Given the description of an element on the screen output the (x, y) to click on. 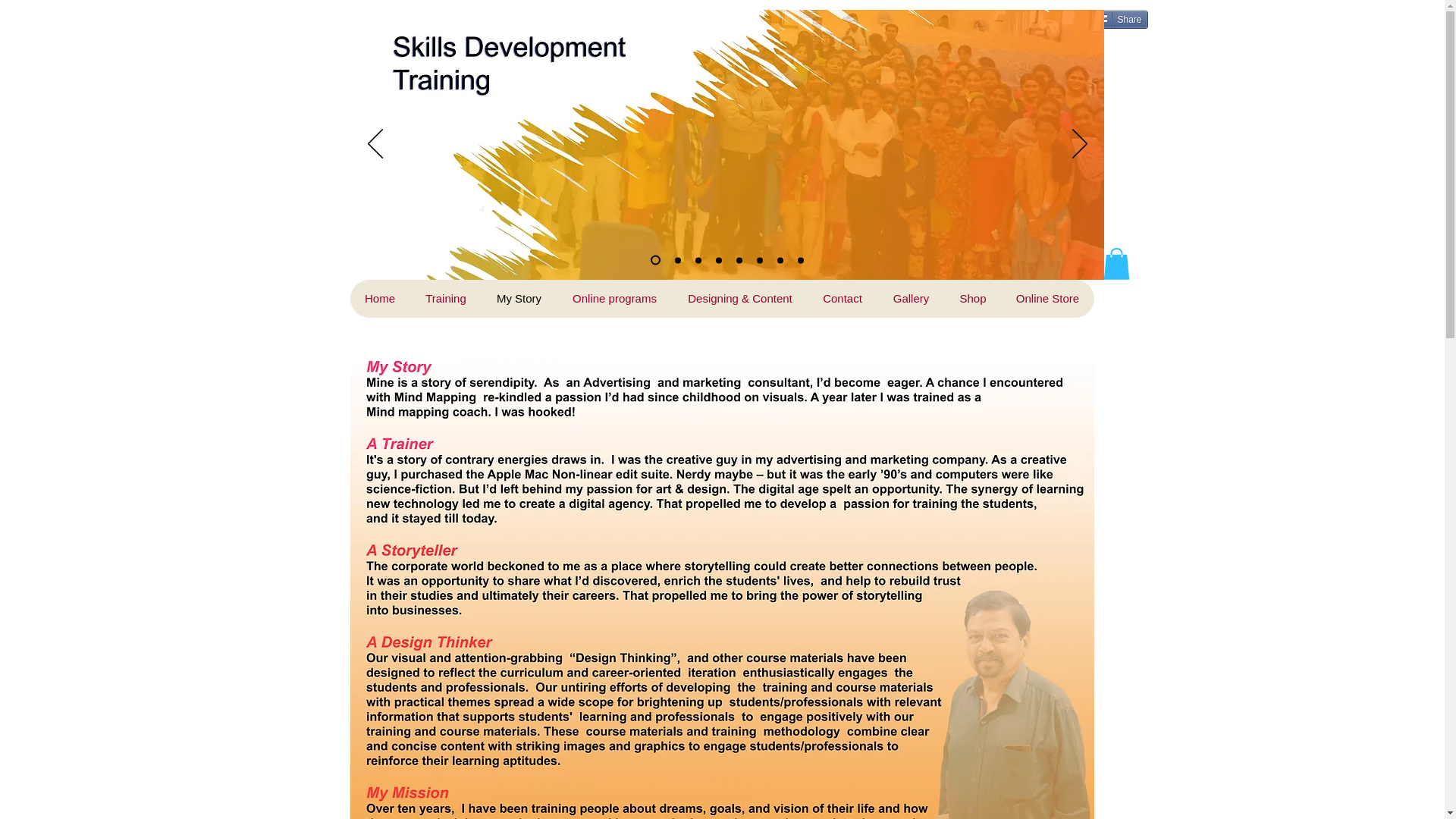
Shop (972, 298)
Gallery (909, 298)
Online Store (1047, 298)
My Story (518, 298)
Share (1120, 19)
Share (1120, 19)
Home (380, 298)
Training (444, 298)
Contact (841, 298)
Online programs (614, 298)
